Given the description of an element on the screen output the (x, y) to click on. 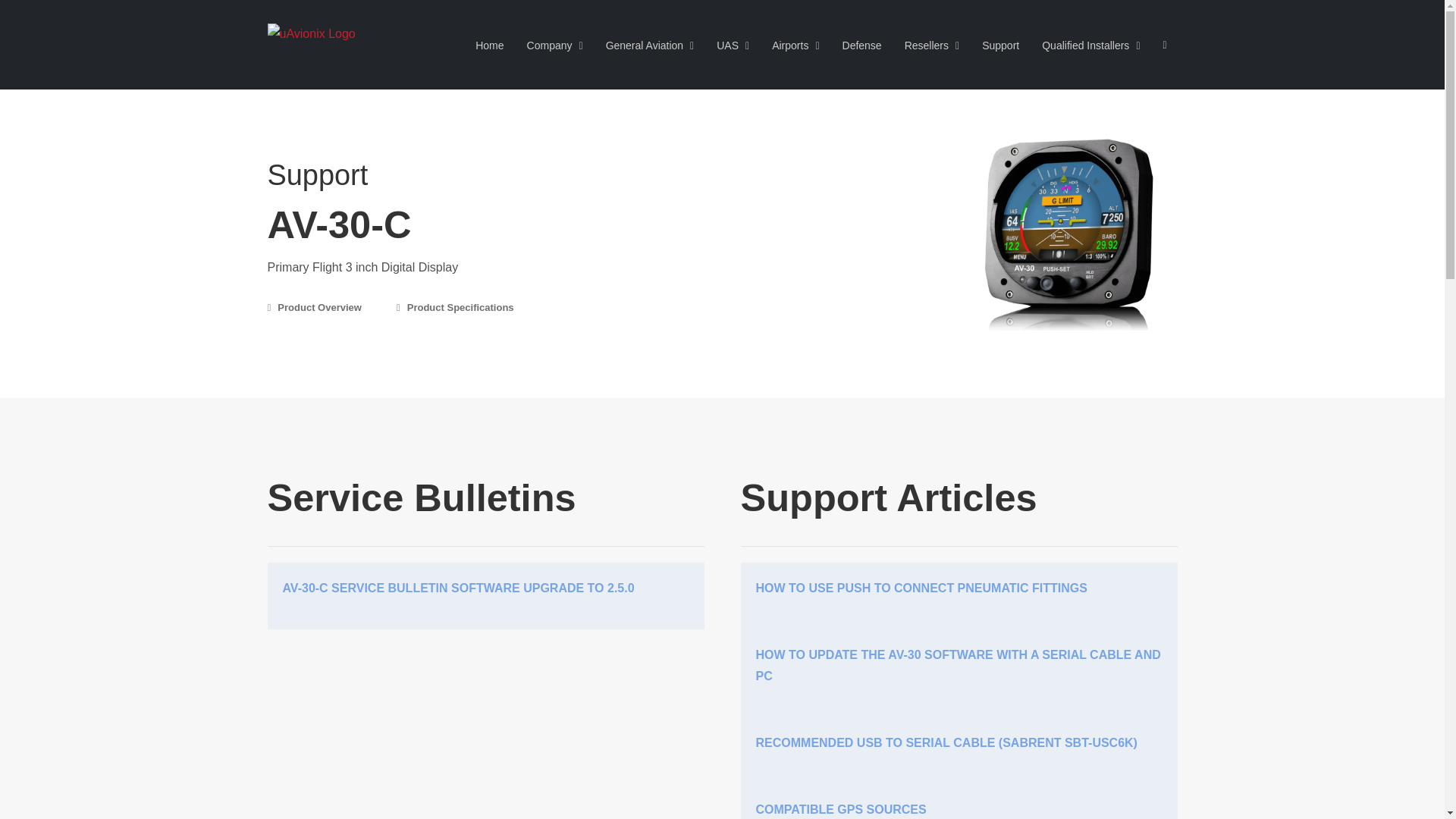
General Aviation (649, 44)
